Given the description of an element on the screen output the (x, y) to click on. 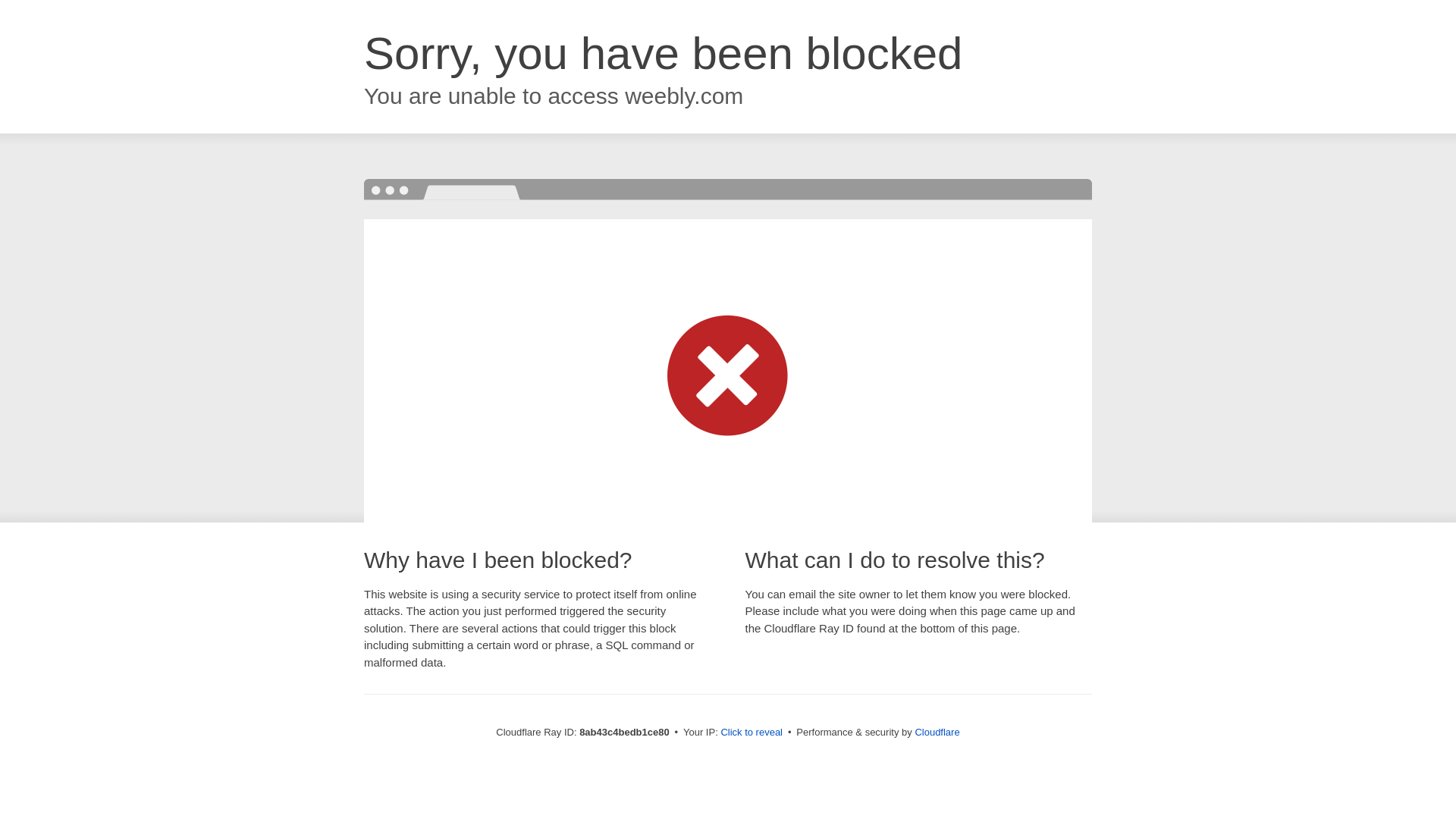
Cloudflare (936, 731)
Click to reveal (751, 732)
